Given the description of an element on the screen output the (x, y) to click on. 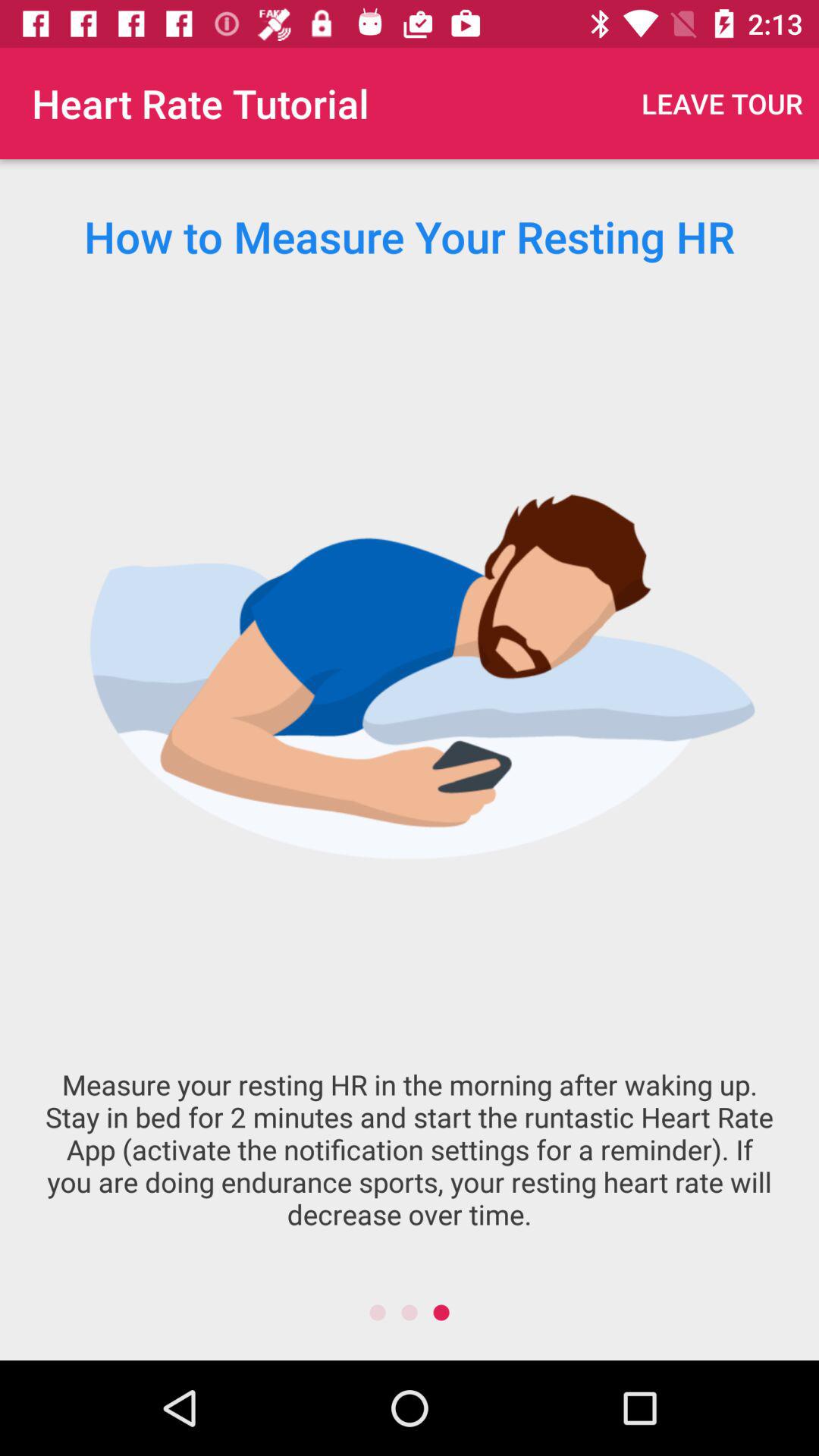
launch the item above the how to measure (722, 103)
